Given the description of an element on the screen output the (x, y) to click on. 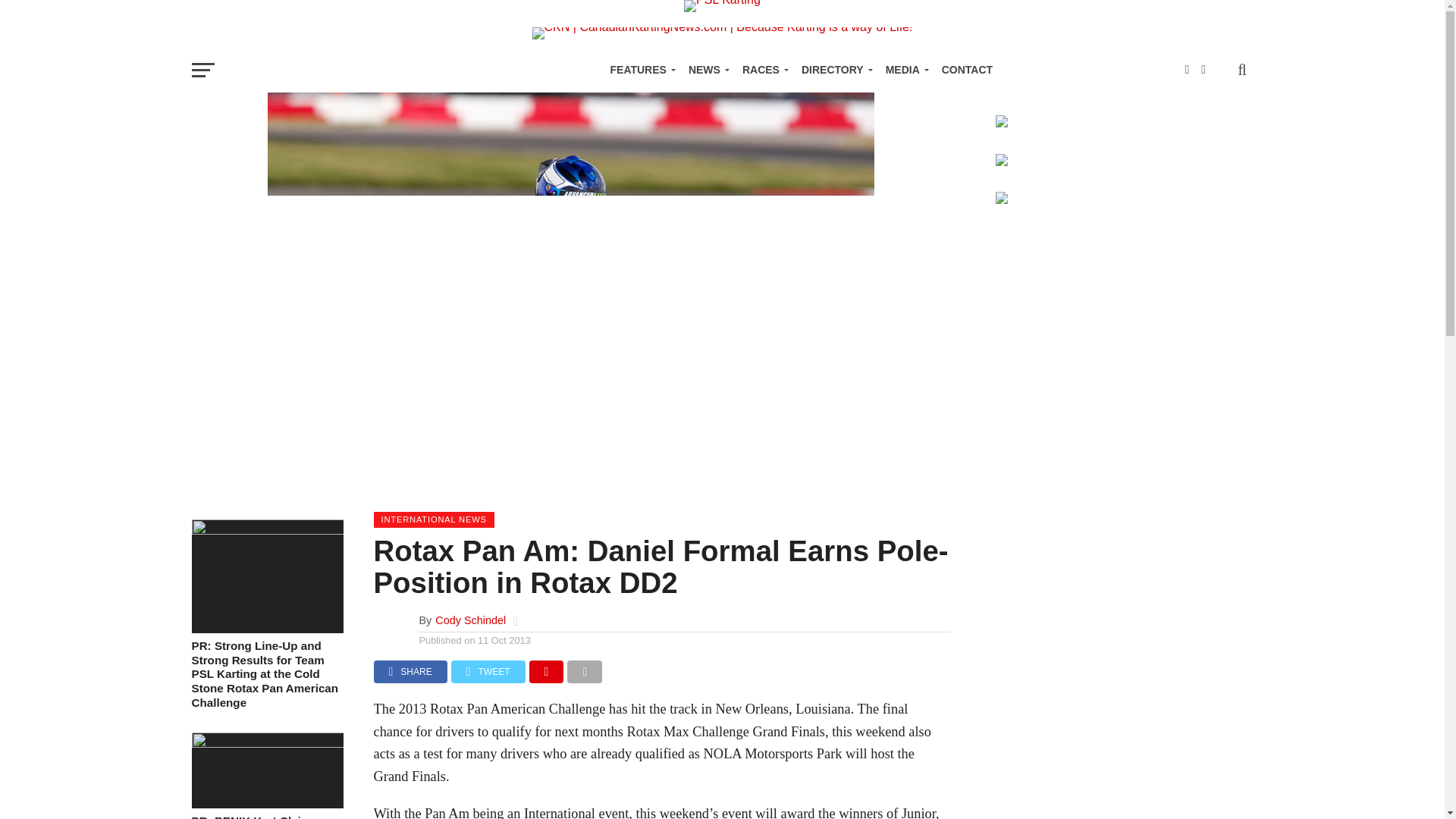
FEATURES (638, 69)
NEWS (706, 69)
PSL Karting (722, 2)
PR: BENIK Kart Claims Rotax Pan American Challenge Victory (266, 743)
Posts by Cody Schindel (470, 620)
